Given the description of an element on the screen output the (x, y) to click on. 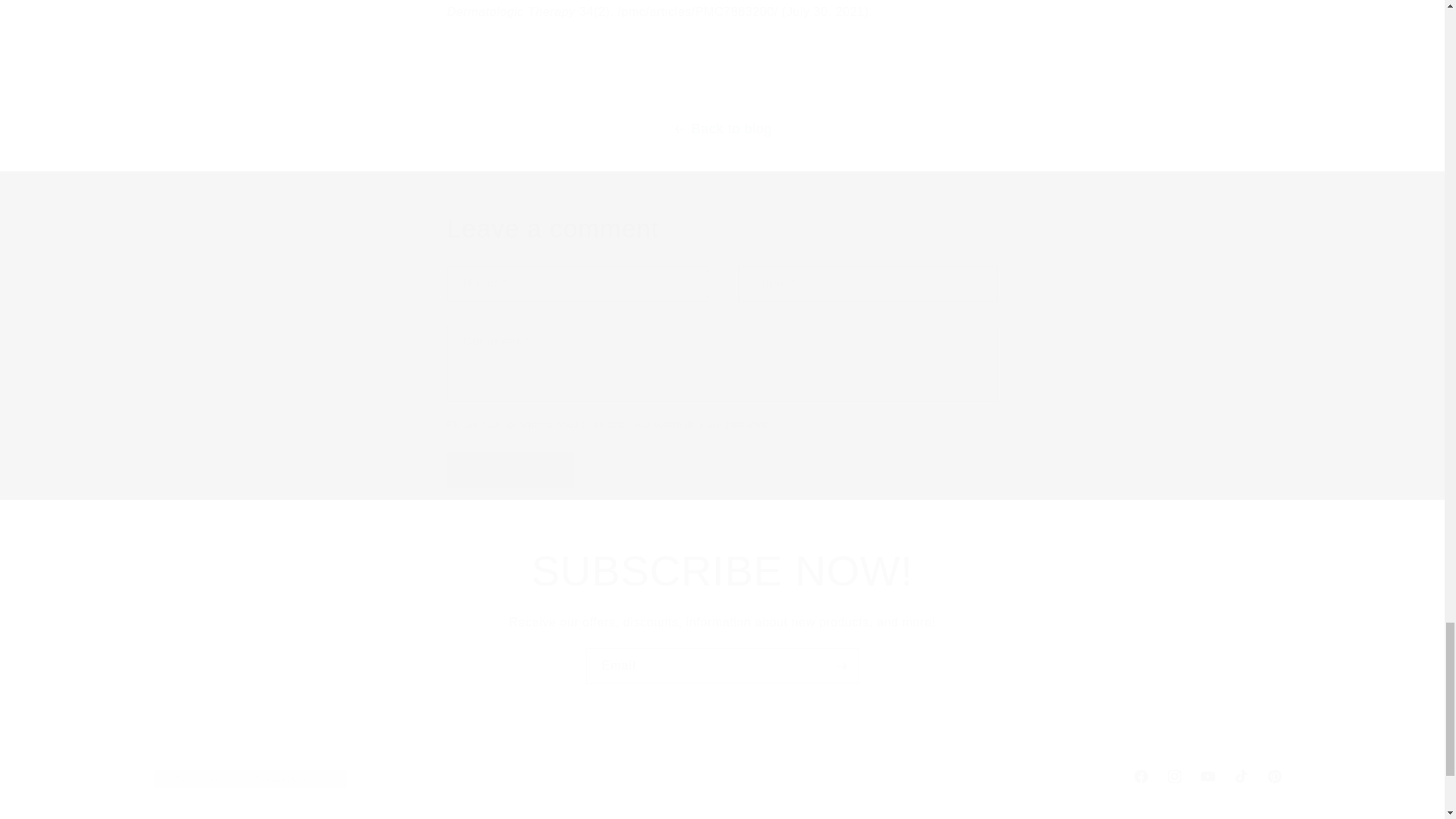
Email (721, 776)
Post comment (722, 665)
Post comment (510, 469)
SUBSCRIBE NOW! (510, 469)
